Given the description of an element on the screen output the (x, y) to click on. 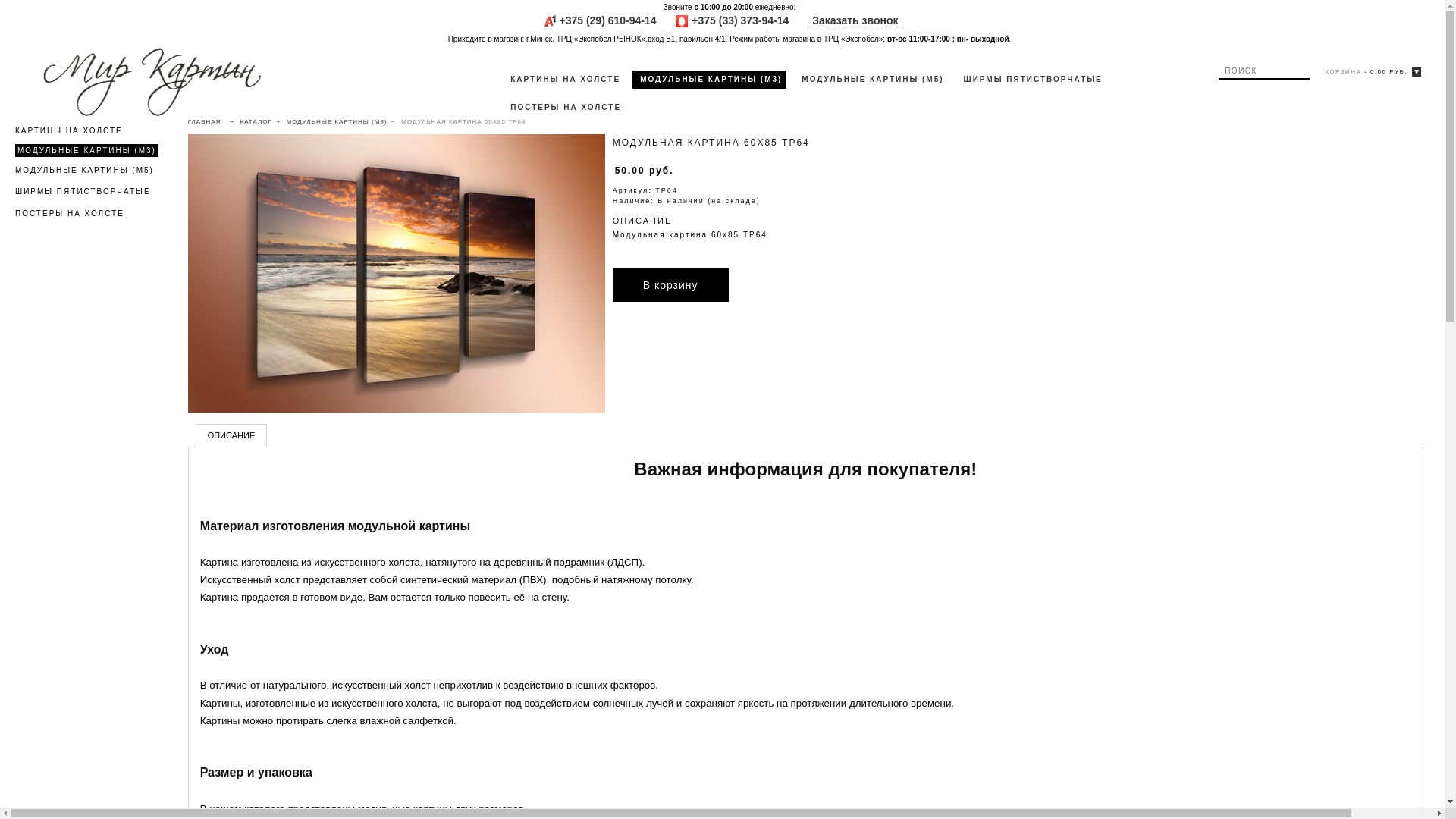
+375 (29) 610-94-14 Element type: text (607, 20)
+375 (33) 373-94-14 Element type: text (739, 20)
